Given the description of an element on the screen output the (x, y) to click on. 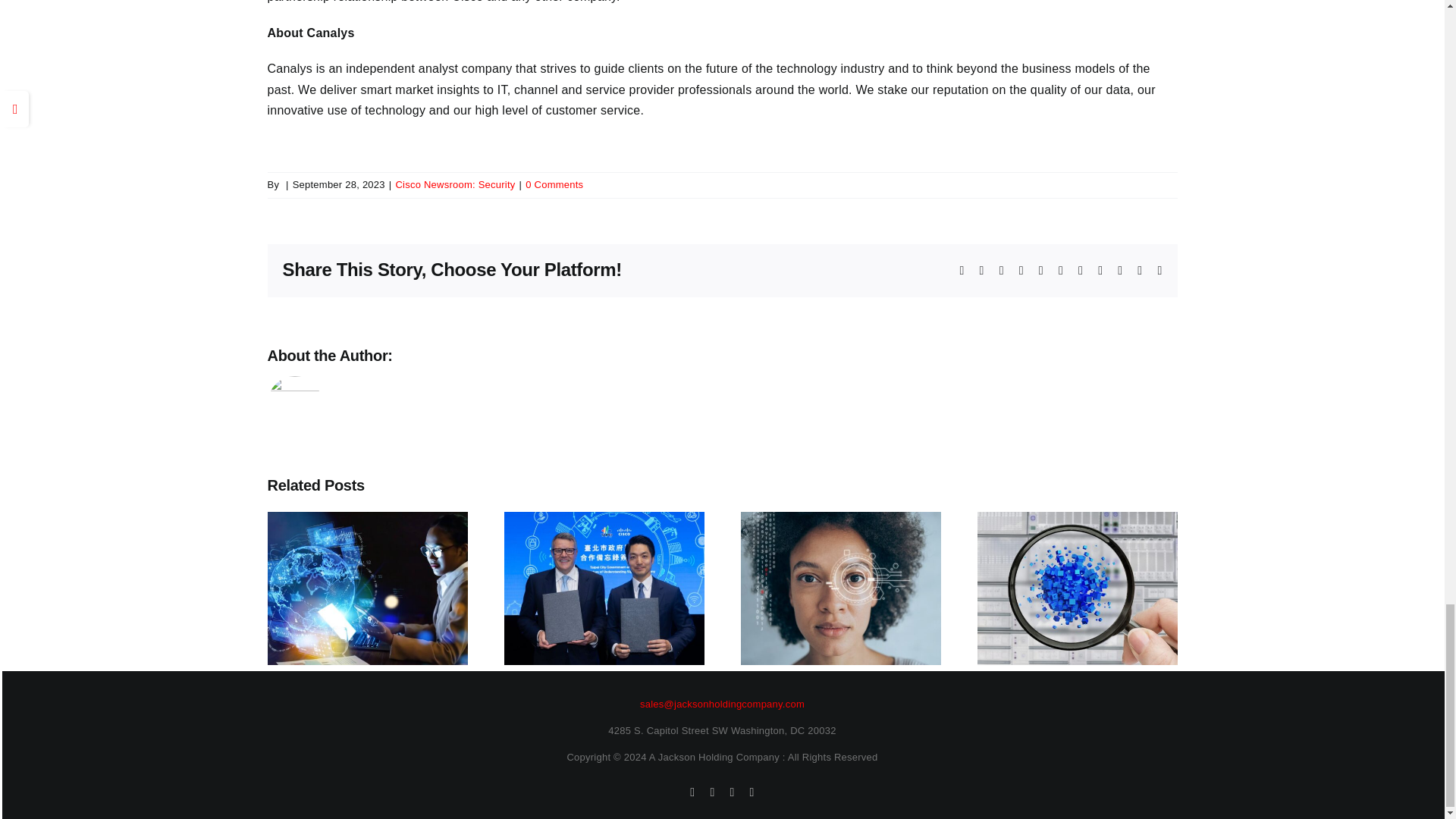
Xing (1139, 270)
Email (1159, 270)
Cisco Newsroom: Security (454, 184)
LinkedIn (1021, 270)
Reddit (1001, 270)
Facebook (961, 270)
Telegram (1060, 270)
Vk (1120, 270)
WhatsApp (1041, 270)
Pinterest (1099, 270)
Twitter (981, 270)
Tumblr (1080, 270)
0 Comments (554, 184)
